Given the description of an element on the screen output the (x, y) to click on. 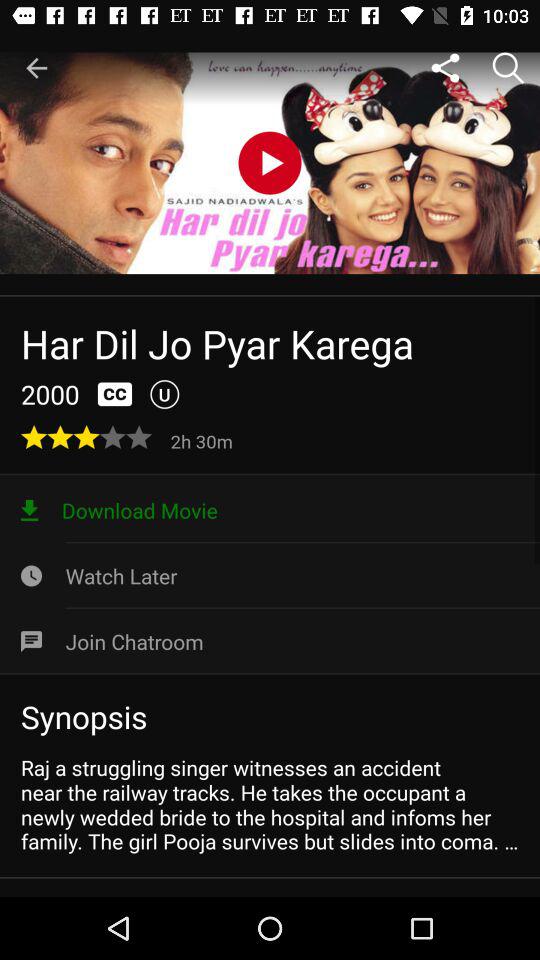
swipe to the watch later (270, 575)
